Given the description of an element on the screen output the (x, y) to click on. 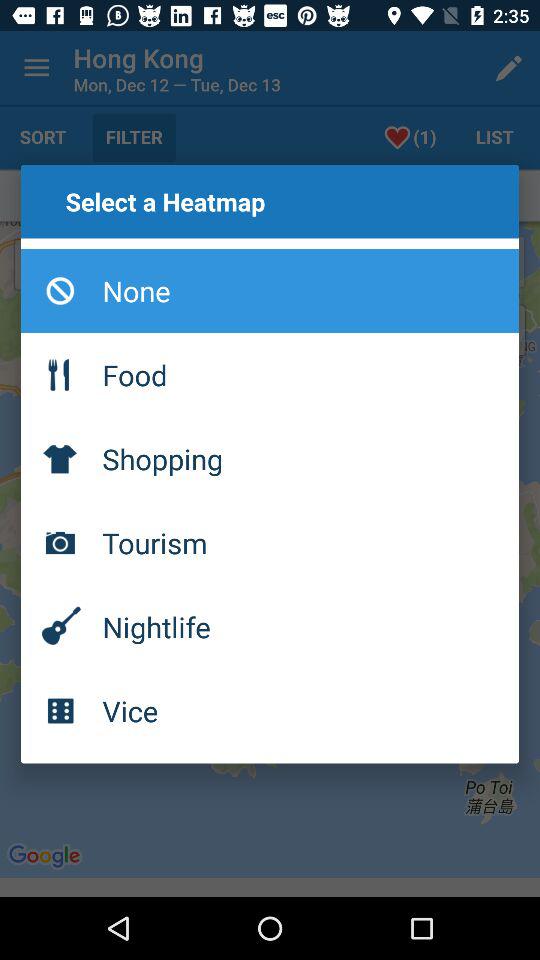
choose none (270, 291)
